Given the description of an element on the screen output the (x, y) to click on. 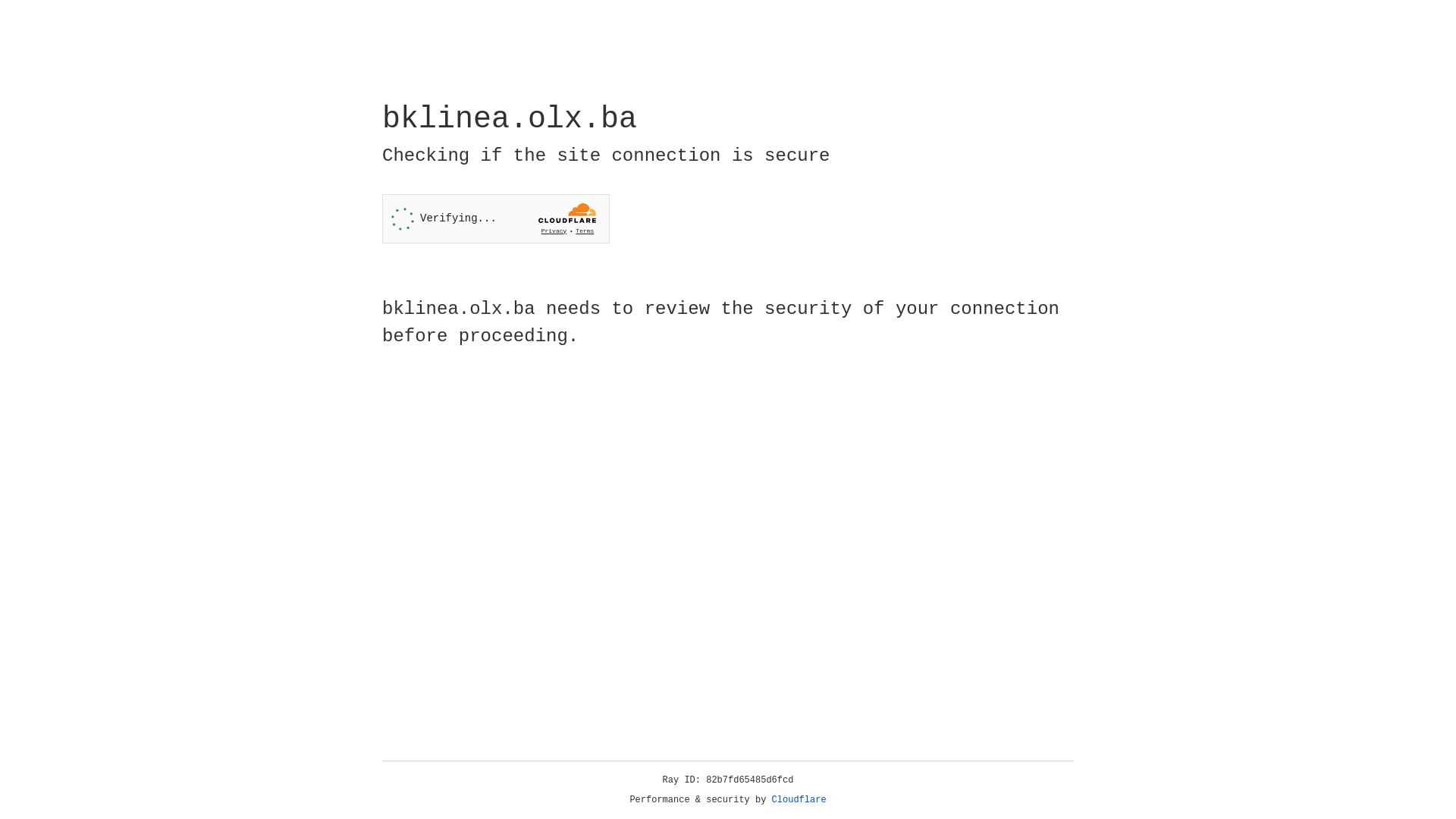
Cloudflare Element type: text (798, 799)
Widget containing a Cloudflare security challenge Element type: hover (495, 218)
